Given the description of an element on the screen output the (x, y) to click on. 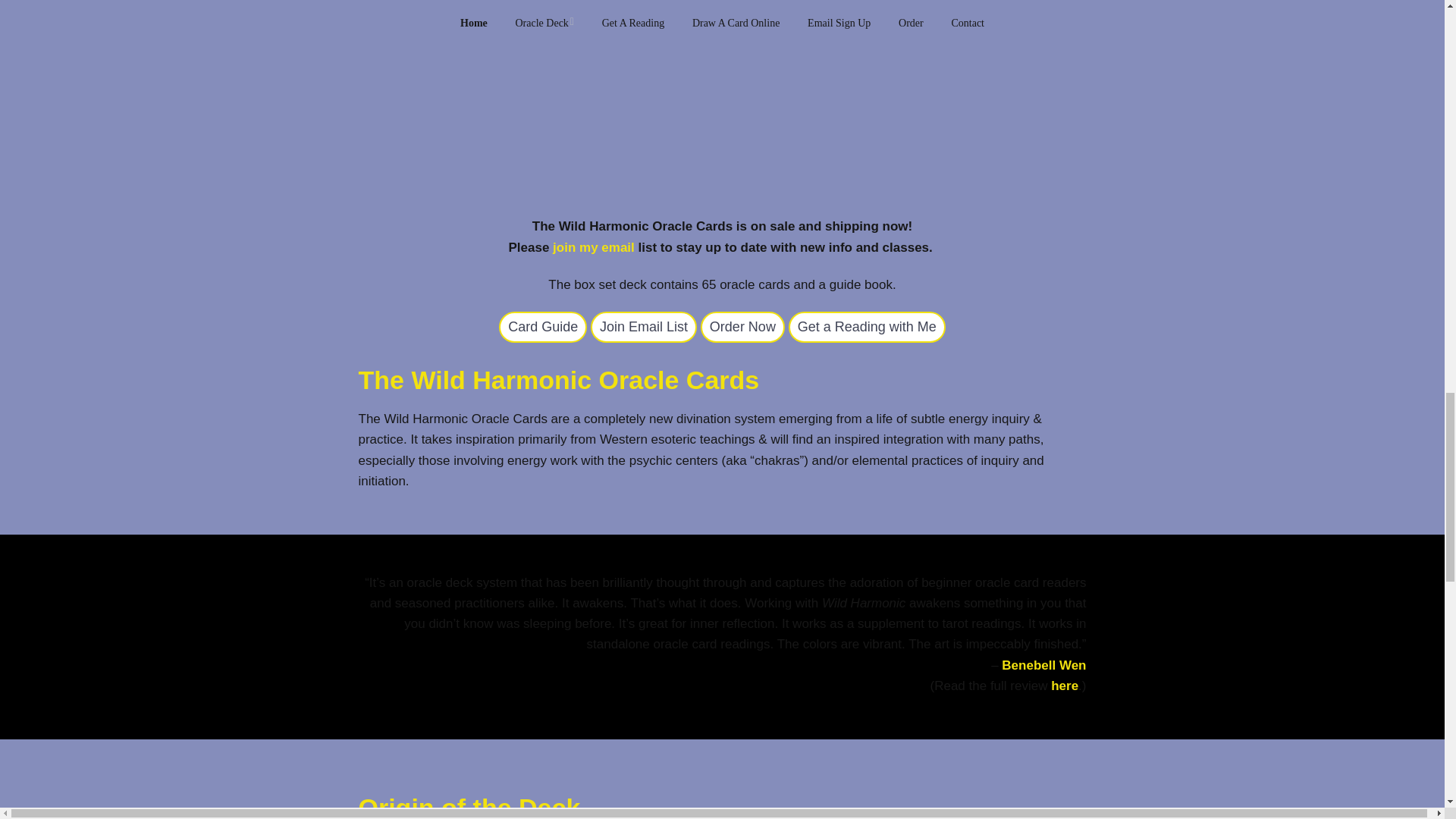
Benebell Wen (1043, 665)
Card Guide (866, 327)
Card Guide (542, 327)
join my email (593, 247)
Card Guide (742, 327)
Card Guide (542, 327)
Card Guide (644, 327)
Get a Reading with Me (866, 327)
here (1064, 685)
Join Email List (644, 327)
